Given the description of an element on the screen output the (x, y) to click on. 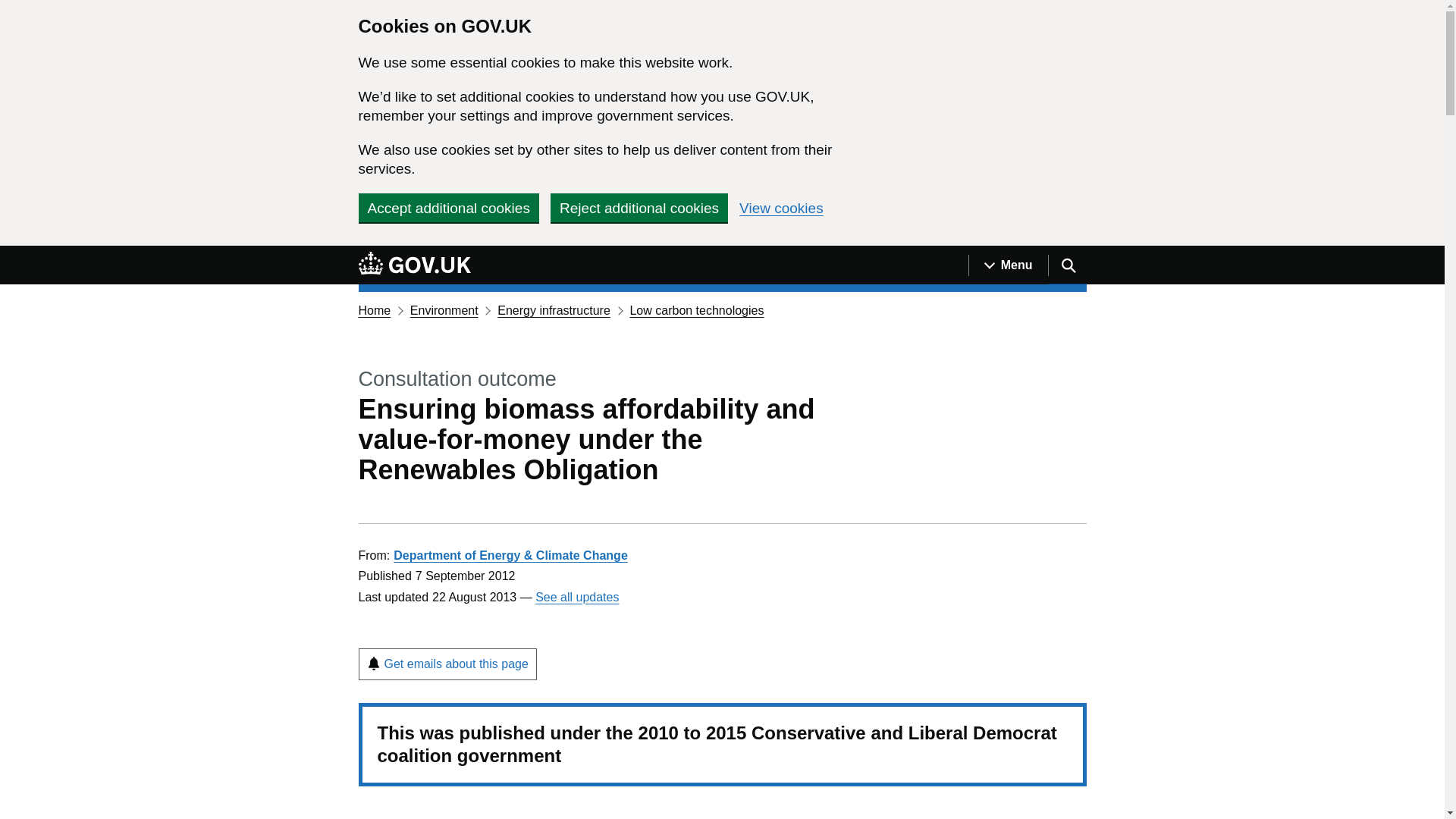
See all updates (576, 596)
View cookies (781, 207)
GOV.UK (414, 264)
Search GOV.UK (1067, 265)
Energy infrastructure (553, 309)
Menu (1008, 265)
Get emails about this page (446, 664)
Home (374, 309)
Low carbon technologies (695, 309)
Environment (444, 309)
GOV.UK (414, 262)
Skip to main content (11, 254)
Accept additional cookies (448, 207)
Reject additional cookies (639, 207)
